Given the description of an element on the screen output the (x, y) to click on. 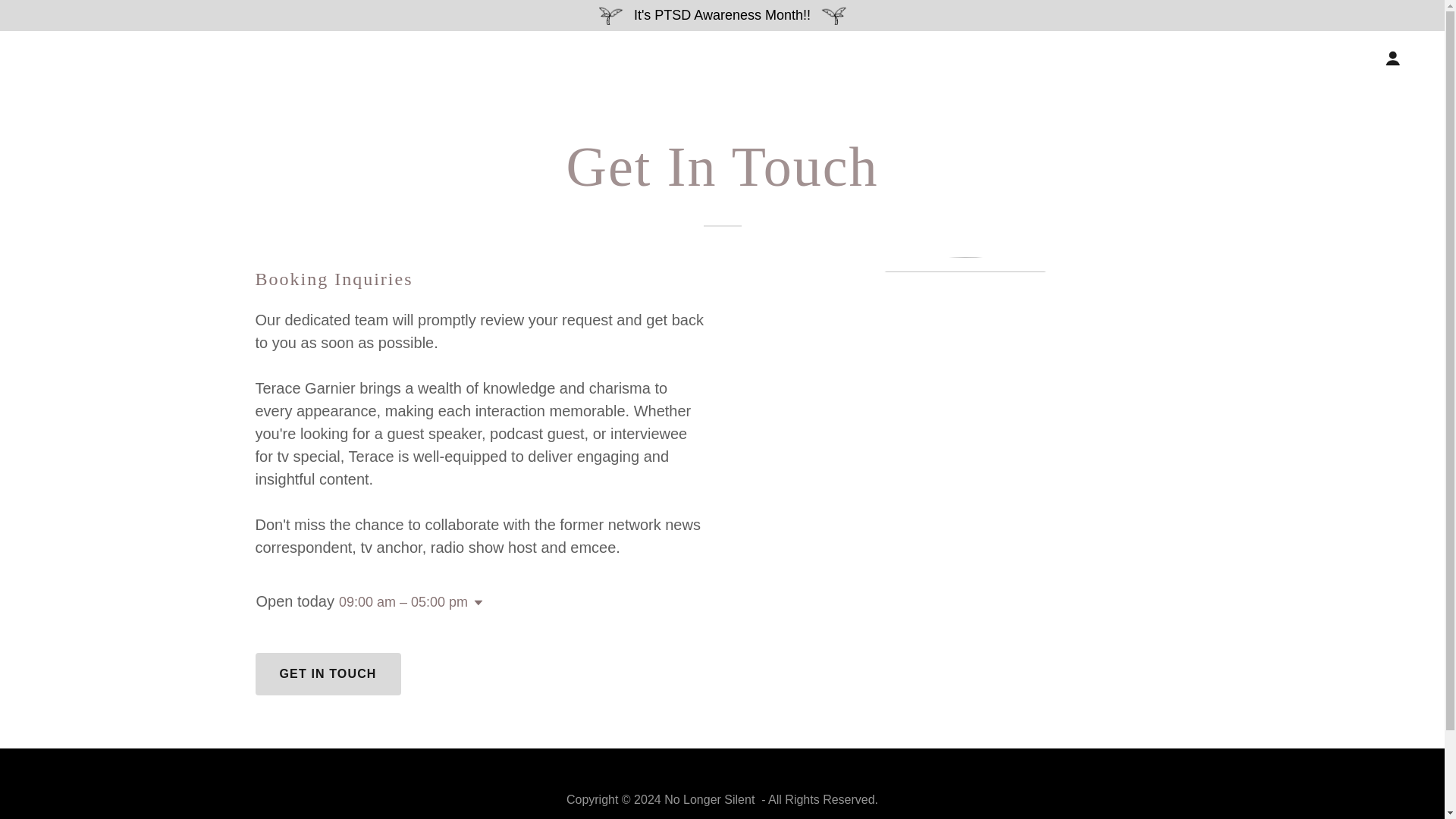
GET IN TOUCH (327, 673)
